Given the description of an element on the screen output the (x, y) to click on. 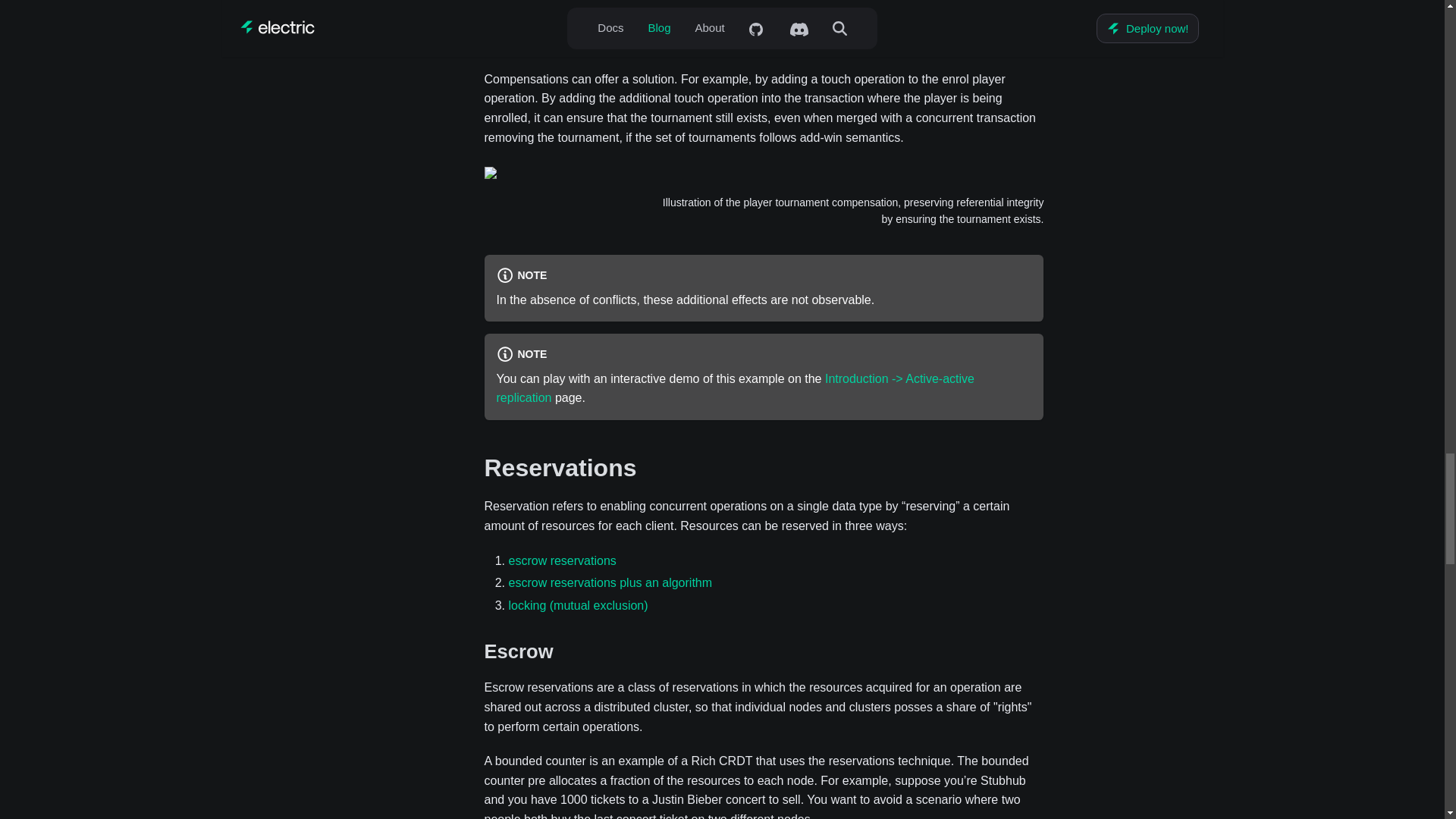
escrow reservations plus an algorithm (609, 582)
escrow reservations (561, 560)
